Given the description of an element on the screen output the (x, y) to click on. 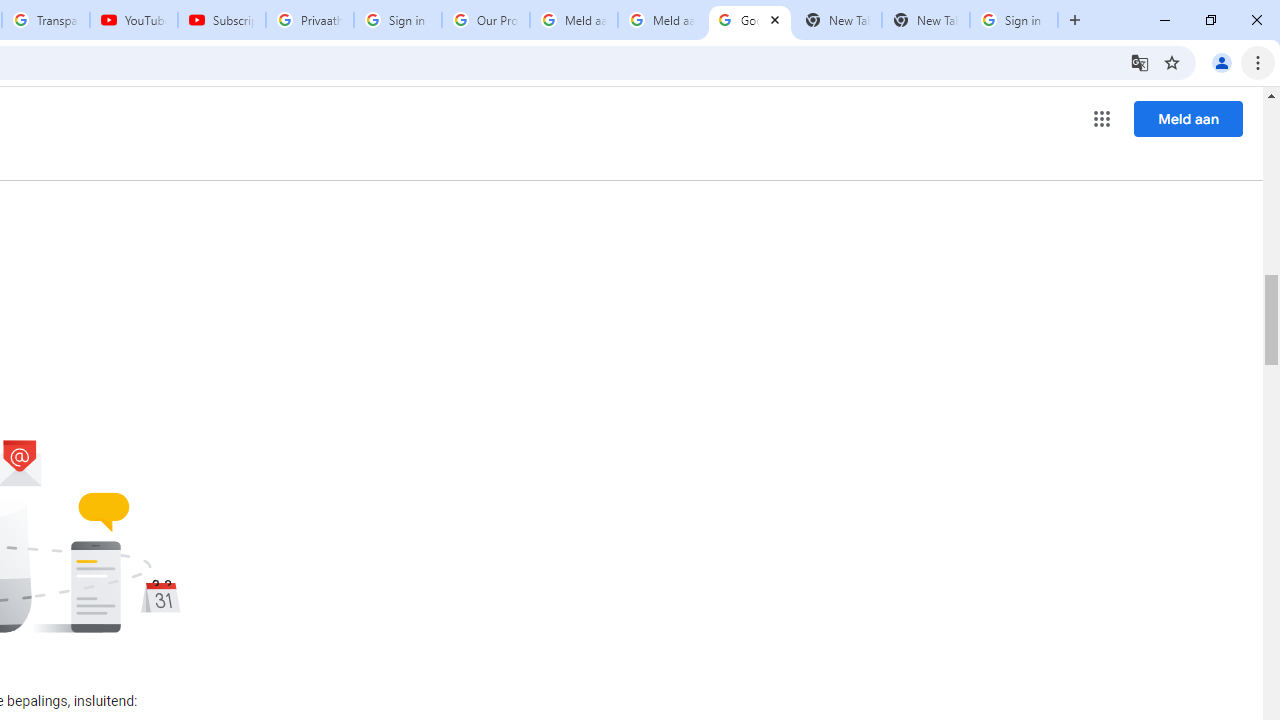
Meld aan (1188, 118)
New Tab (925, 20)
Subscriptions - YouTube (221, 20)
YouTube (133, 20)
Google-programme (1101, 118)
Translate this page (1139, 62)
